Given the description of an element on the screen output the (x, y) to click on. 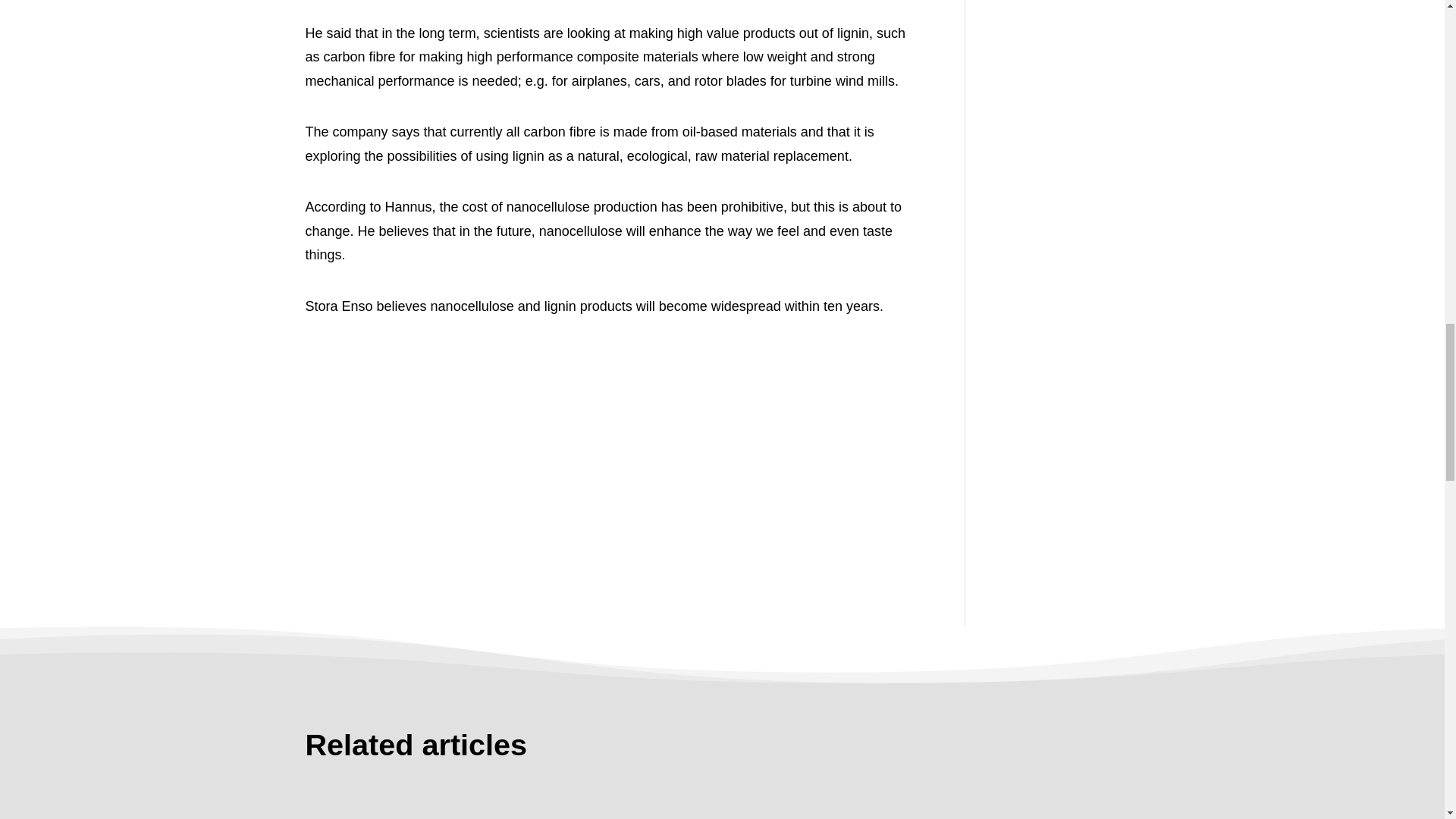
Advertisement (611, 438)
